Given the description of an element on the screen output the (x, y) to click on. 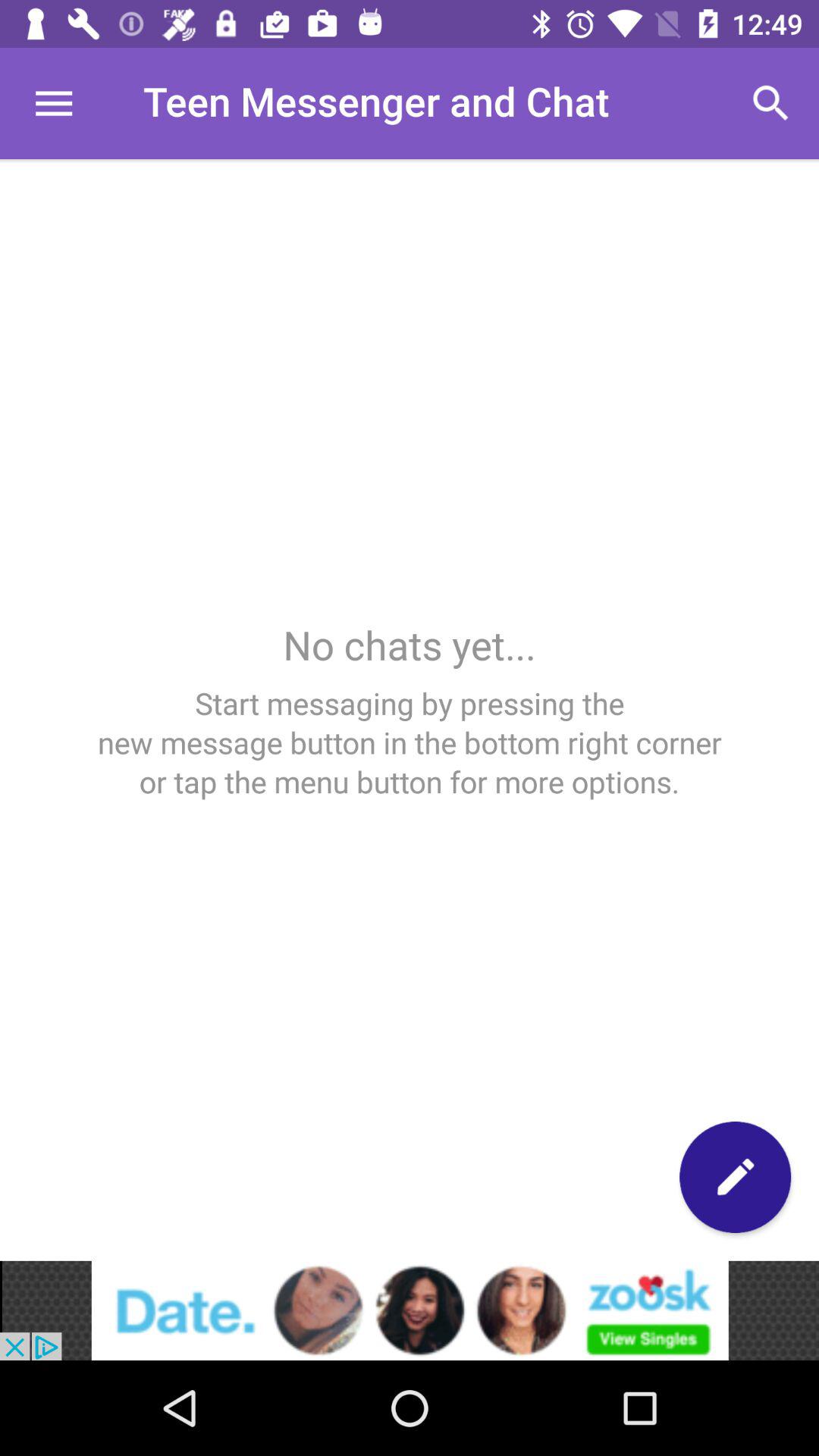
load menu (53, 103)
